Given the description of an element on the screen output the (x, y) to click on. 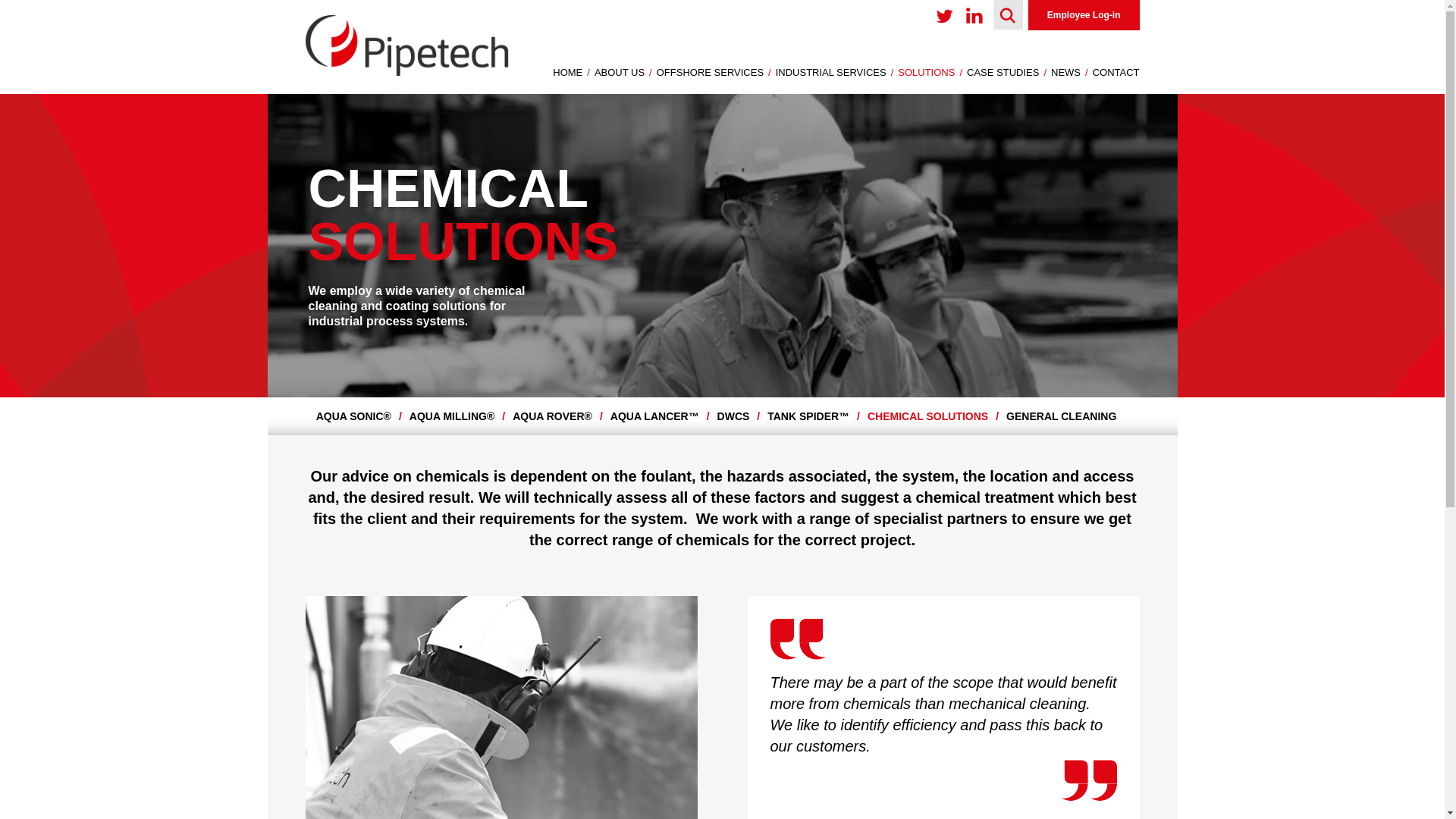
ABOUT US (622, 71)
HOME (570, 71)
OFFSHORE SERVICES (713, 71)
Employee Log-in (1083, 15)
CONTACT (1115, 71)
Pipetech (406, 71)
CHEMICAL SOLUTIONS (932, 415)
DWCS (738, 415)
GENERAL CLEANING (1065, 415)
SOLUTIONS (929, 71)
